Given the description of an element on the screen output the (x, y) to click on. 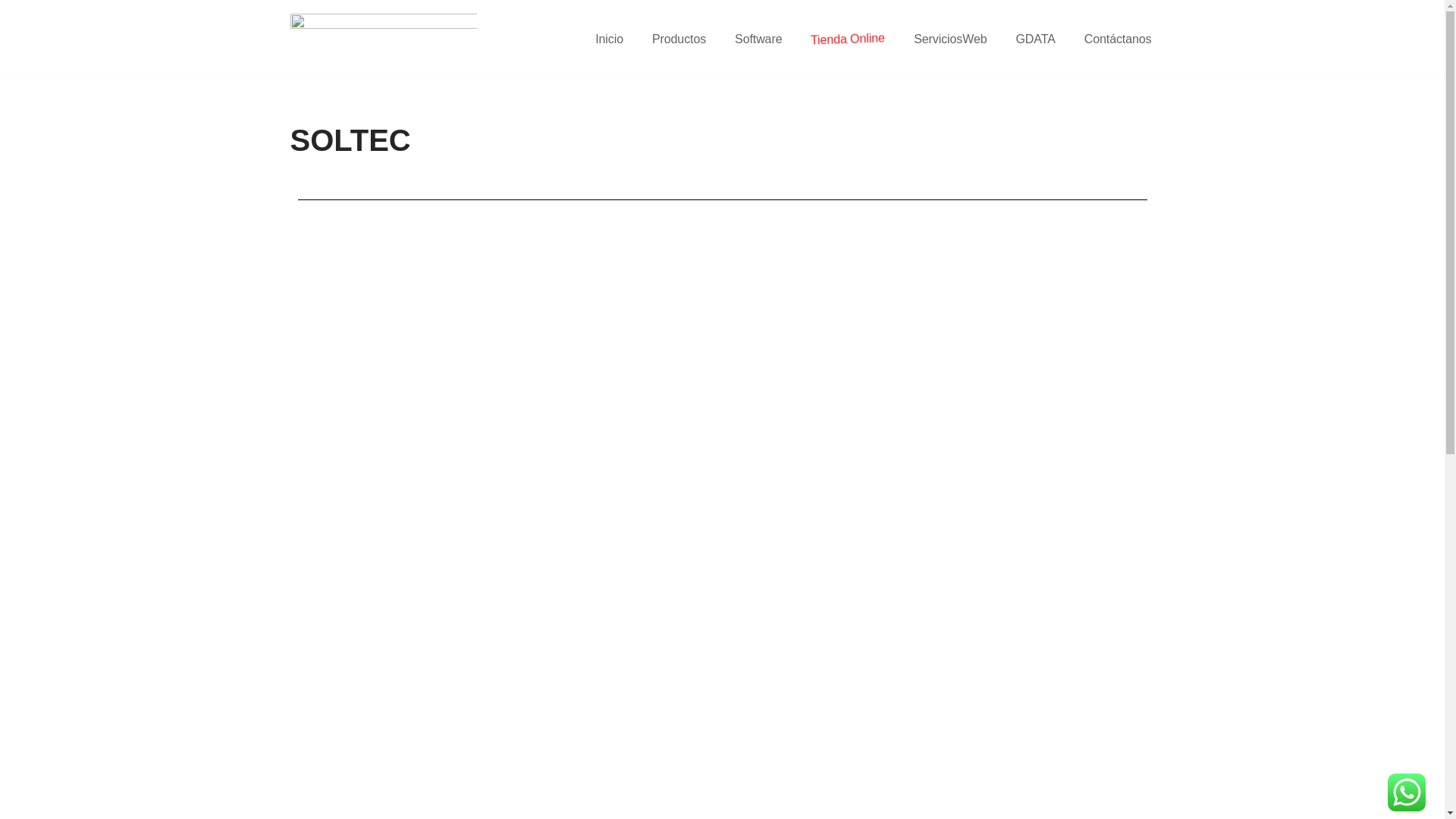
WhatsApp us Element type: hover (1406, 792)
Productos Element type: text (679, 38)
Tienda Online Element type: text (846, 26)
GDATA Element type: text (1035, 38)
ServiciosWeb Element type: text (949, 38)
Software Element type: text (757, 38)
Saltar al contenido Element type: text (11, 31)
Soluciones Tecnologicas CC Element type: hover (382, 38)
Inicio Element type: text (609, 38)
